Given the description of an element on the screen output the (x, y) to click on. 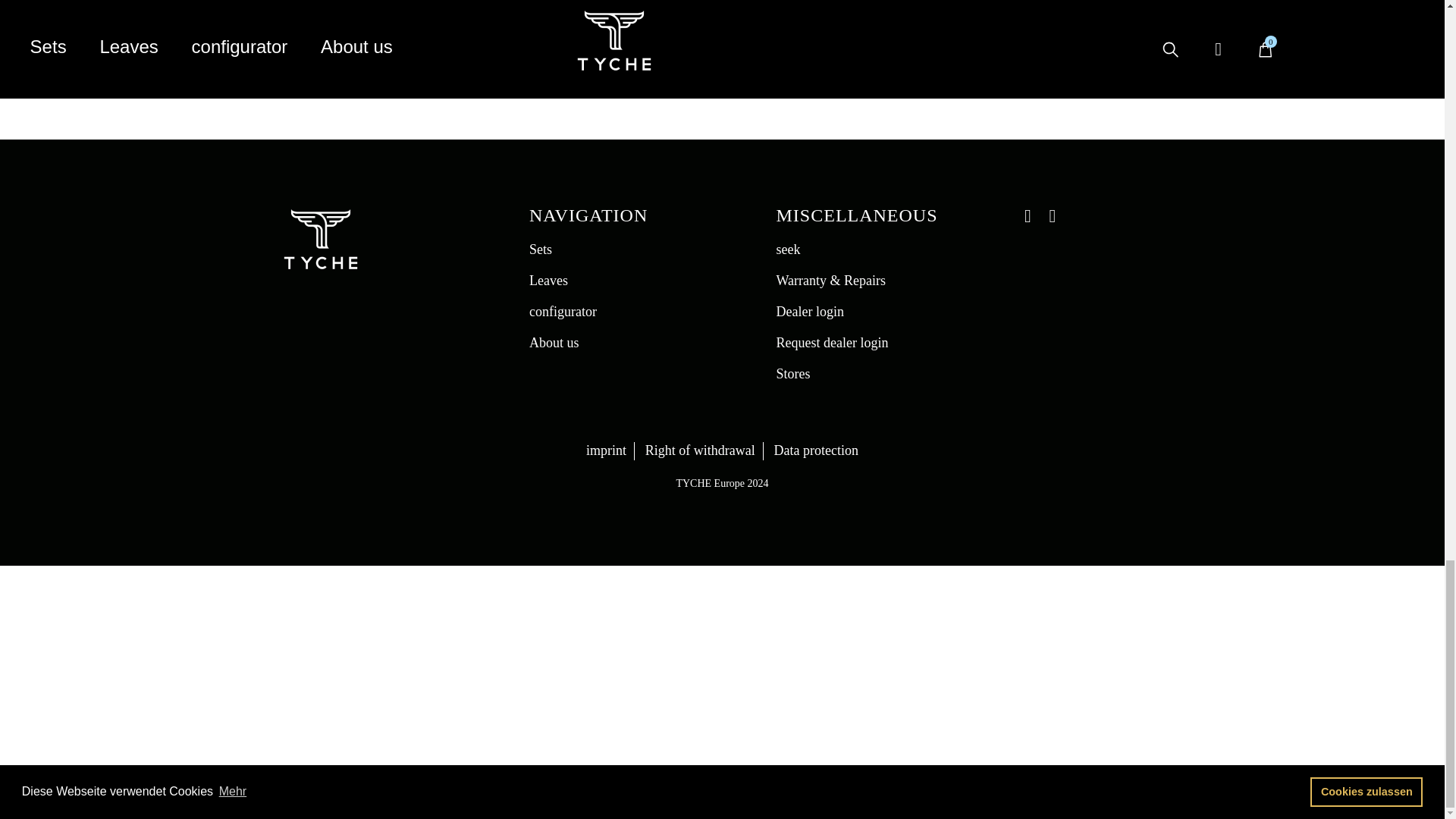
Leaves (548, 280)
Sets (540, 249)
